Given the description of an element on the screen output the (x, y) to click on. 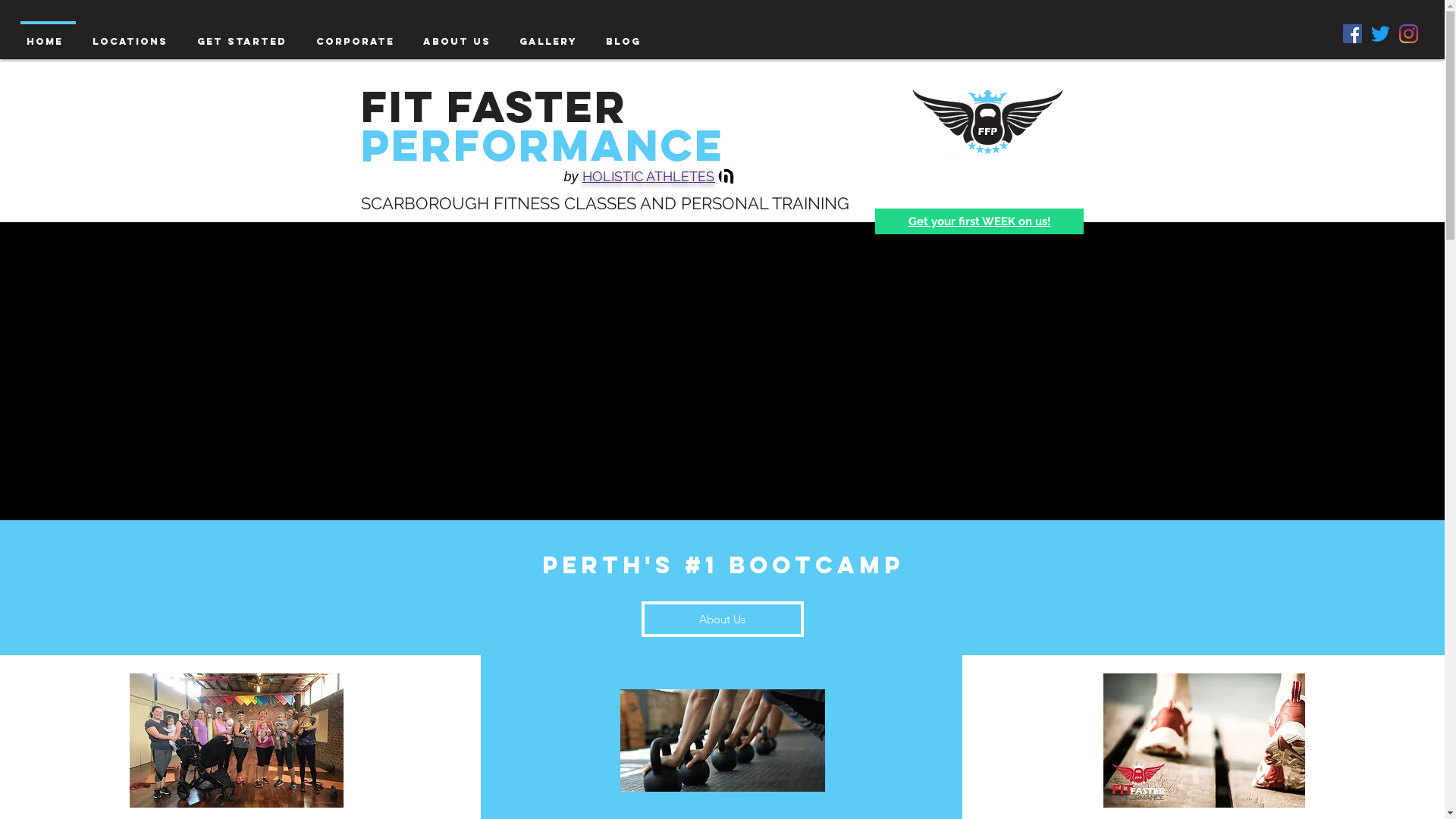
Home Element type: text (48, 34)
Gallery Element type: text (551, 34)
9.jpg Element type: hover (725, 176)
Locations Element type: text (133, 34)
Corporate Element type: text (357, 34)
logo.png Element type: hover (988, 123)
Get Started Element type: text (244, 34)
About Us Element type: text (722, 619)
Blog Element type: text (626, 34)
Get your first WEEK on us! Element type: text (979, 221)
HOLISTIC ATHLETES  Element type: text (650, 176)
About Us Element type: text (459, 34)
